Given the description of an element on the screen output the (x, y) to click on. 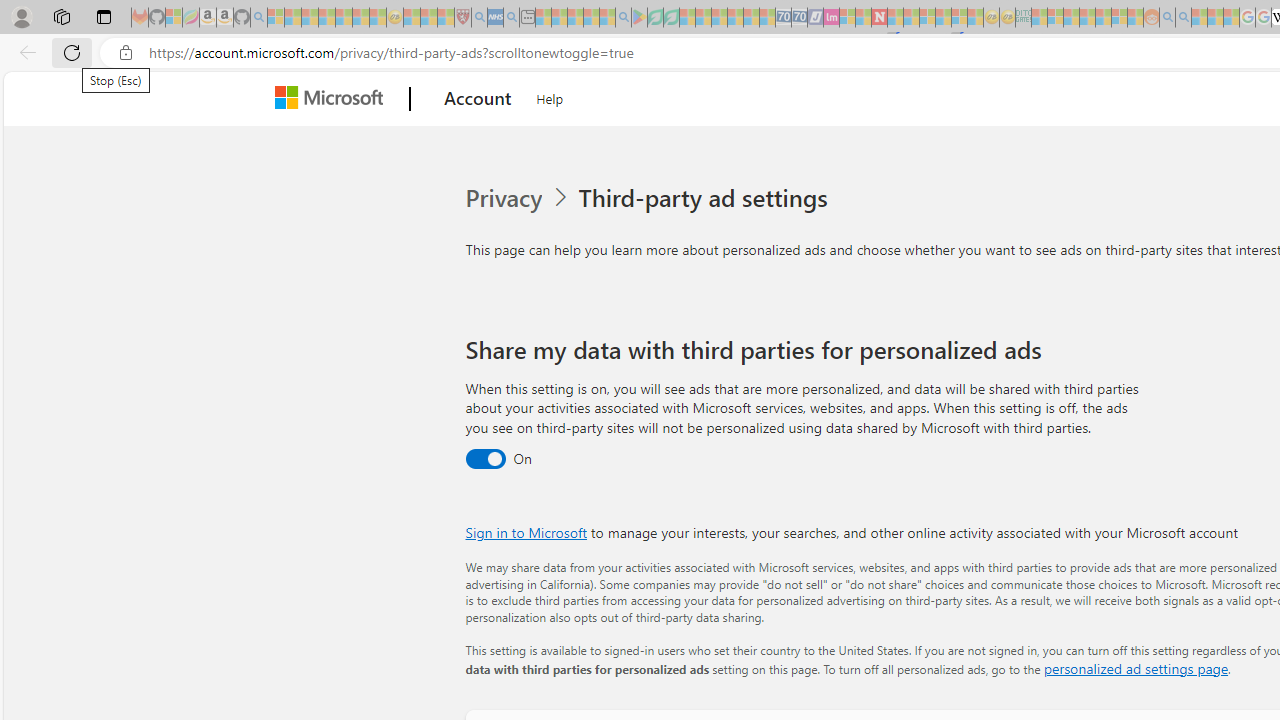
Pets - MSN - Sleeping (591, 17)
Microsoft (332, 99)
Microsoft-Report a Concern to Bing - Sleeping (173, 17)
google - Search - Sleeping (623, 17)
Utah sues federal government - Search - Sleeping (1183, 17)
personalized ad settings page (1135, 668)
Trusted Community Engagement and Contributions | Guidelines (895, 17)
